Given the description of an element on the screen output the (x, y) to click on. 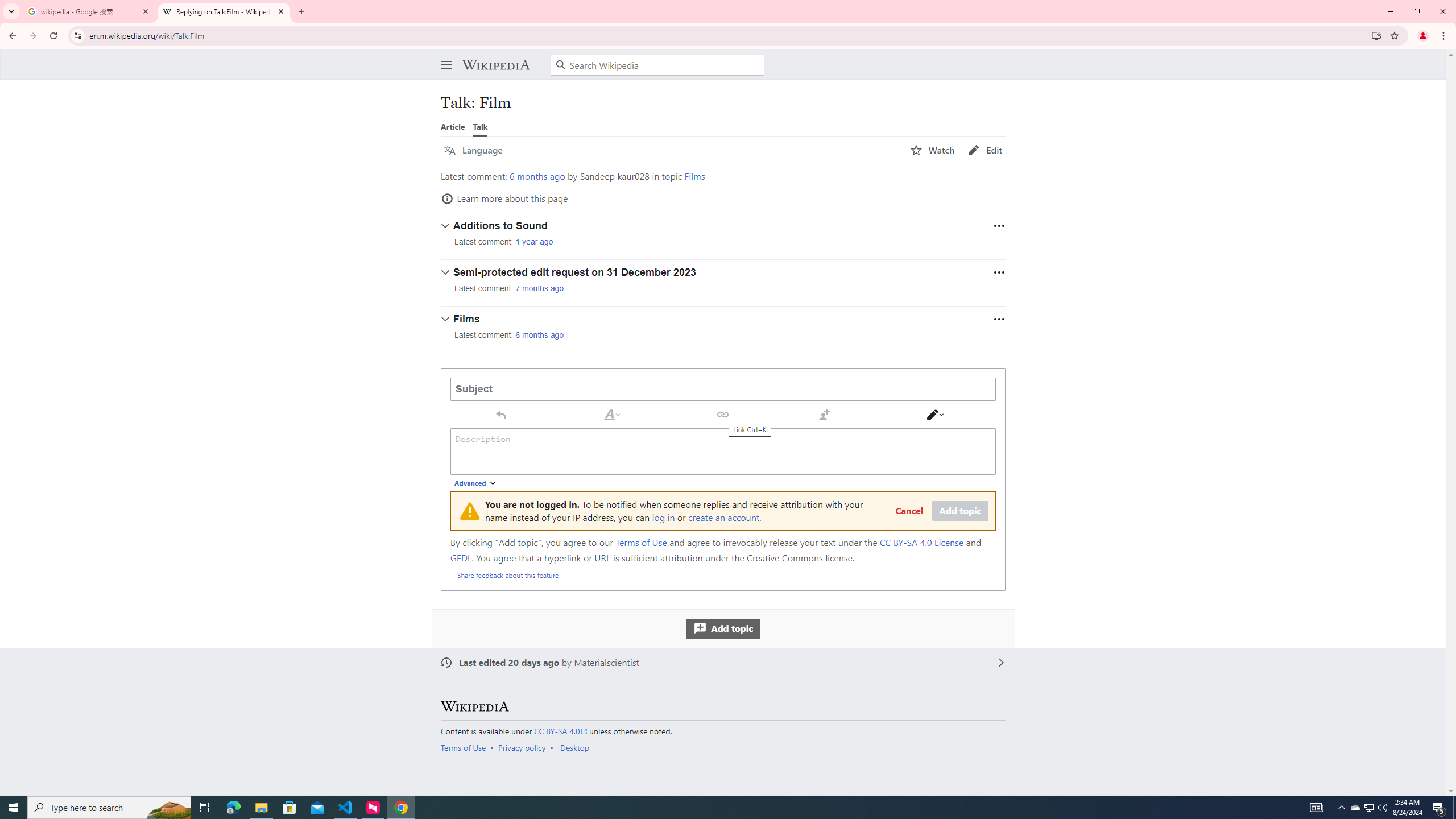
Undo Ctrl+Z (500, 414)
Share feedback about this feature (508, 574)
CC BY-SA 4.0 License (921, 542)
Description (722, 451)
Link Ctrl+K (723, 414)
Privacy policy (521, 747)
AutomationID: page-actions-watch (932, 150)
AutomationID: footer-places-privacy (525, 747)
Article (452, 126)
Wikipedia (495, 64)
6 months ago (539, 334)
AutomationID: footer-places-terms-use (466, 747)
